Given the description of an element on the screen output the (x, y) to click on. 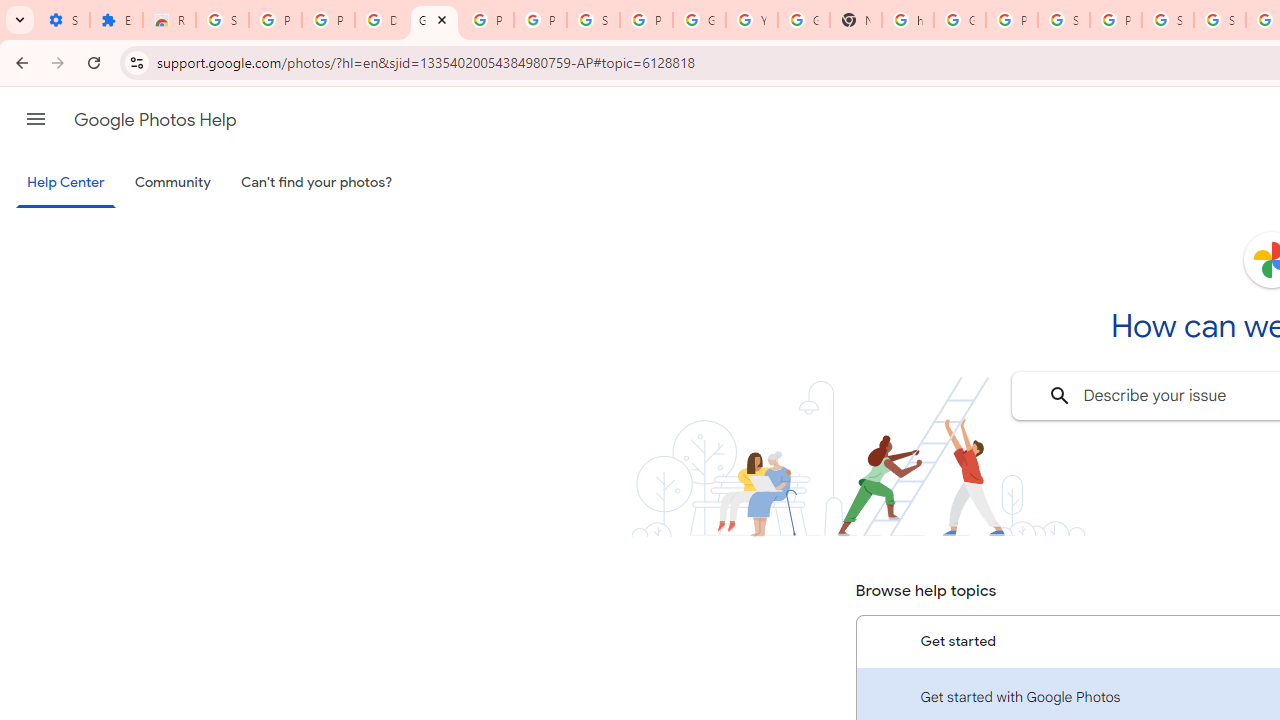
Reviews: Helix Fruit Jump Arcade Game (169, 20)
Can't find your photos? (317, 183)
New Tab (855, 20)
Community (171, 183)
